Given the description of an element on the screen output the (x, y) to click on. 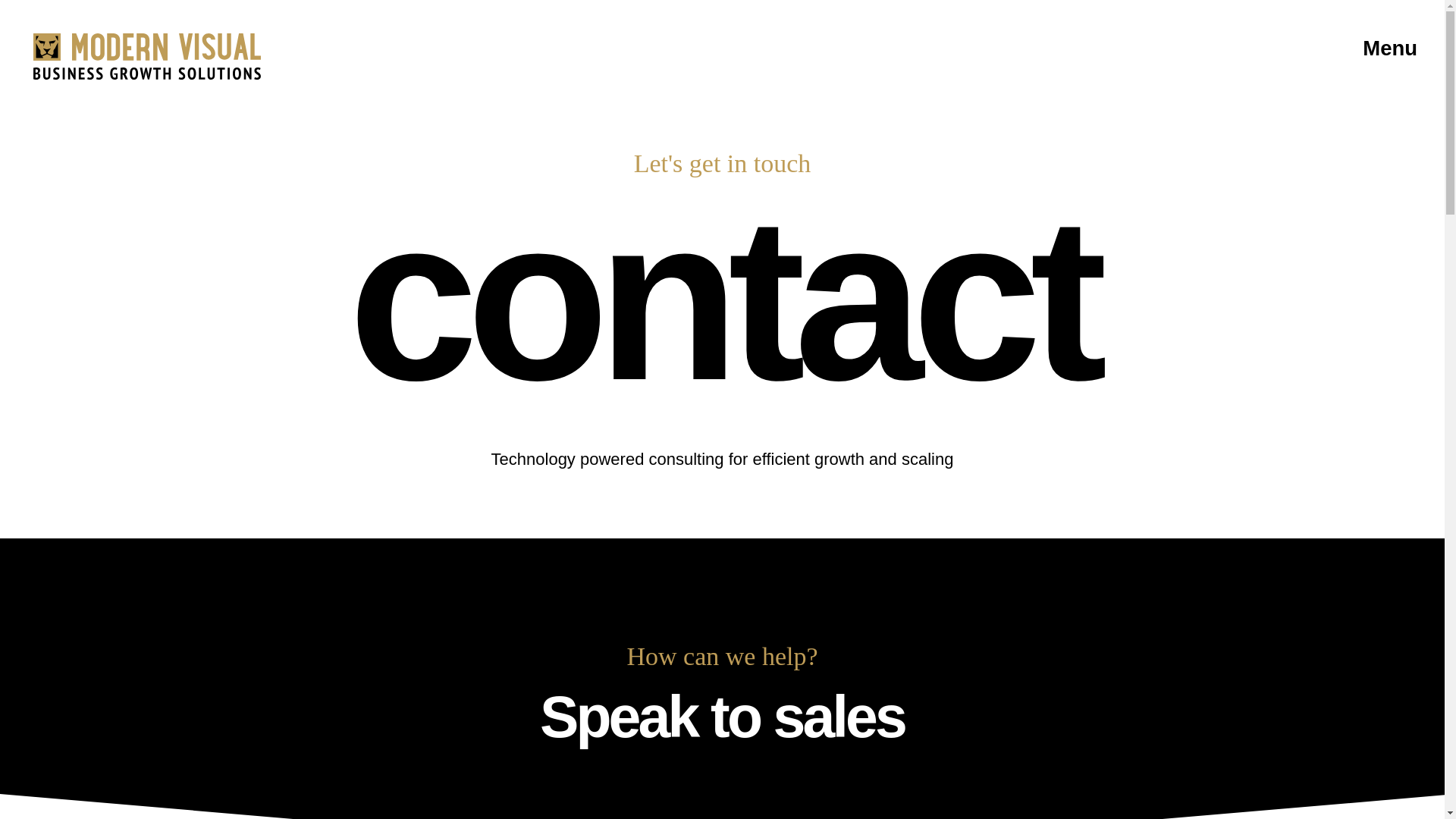
Menu Element type: text (1389, 47)
